Given the description of an element on the screen output the (x, y) to click on. 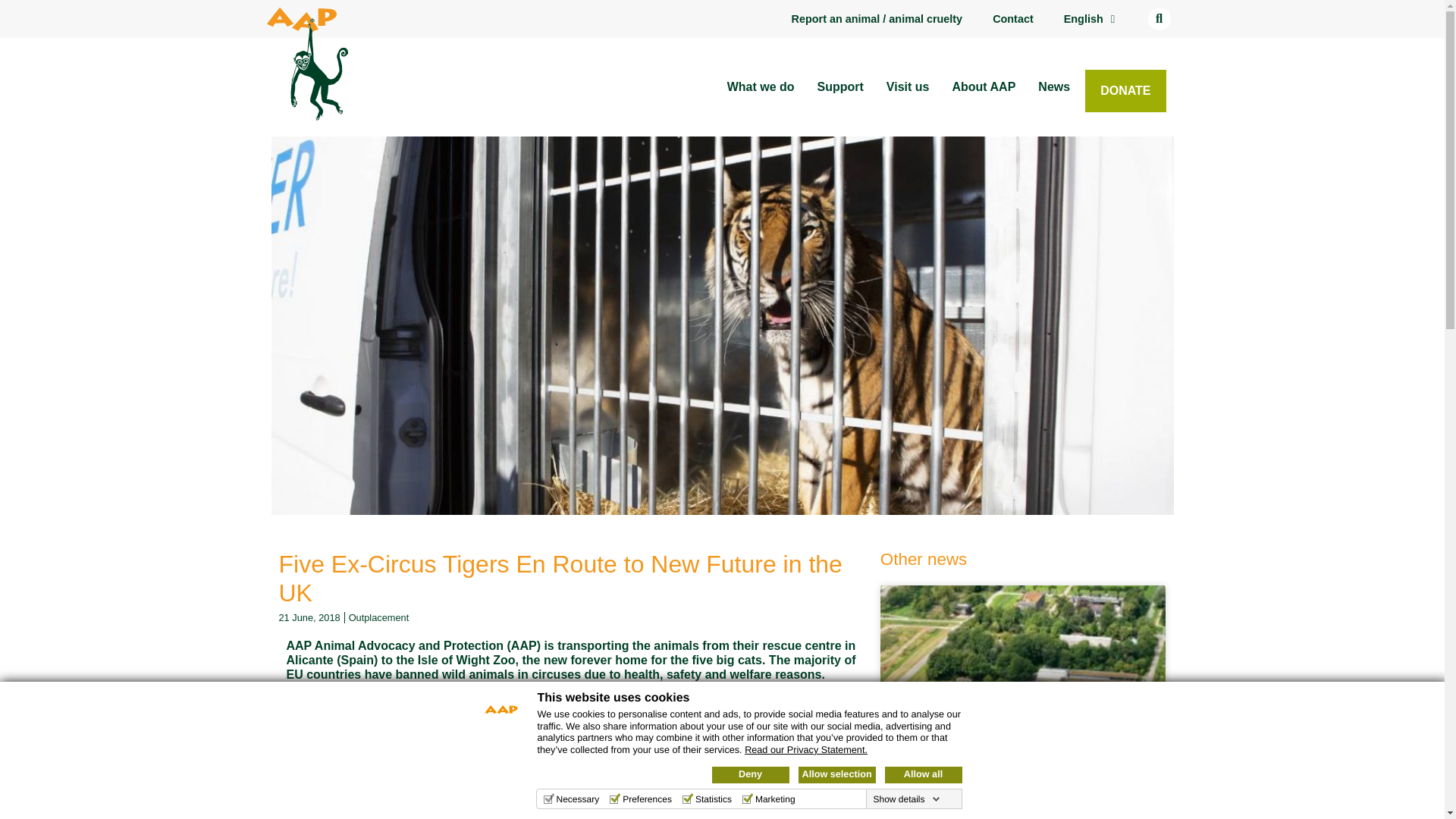
Show details (905, 799)
Allow selection (836, 774)
Allow all (921, 774)
Read our Privacy Statement. (805, 749)
Deny (750, 774)
